Given the description of an element on the screen output the (x, y) to click on. 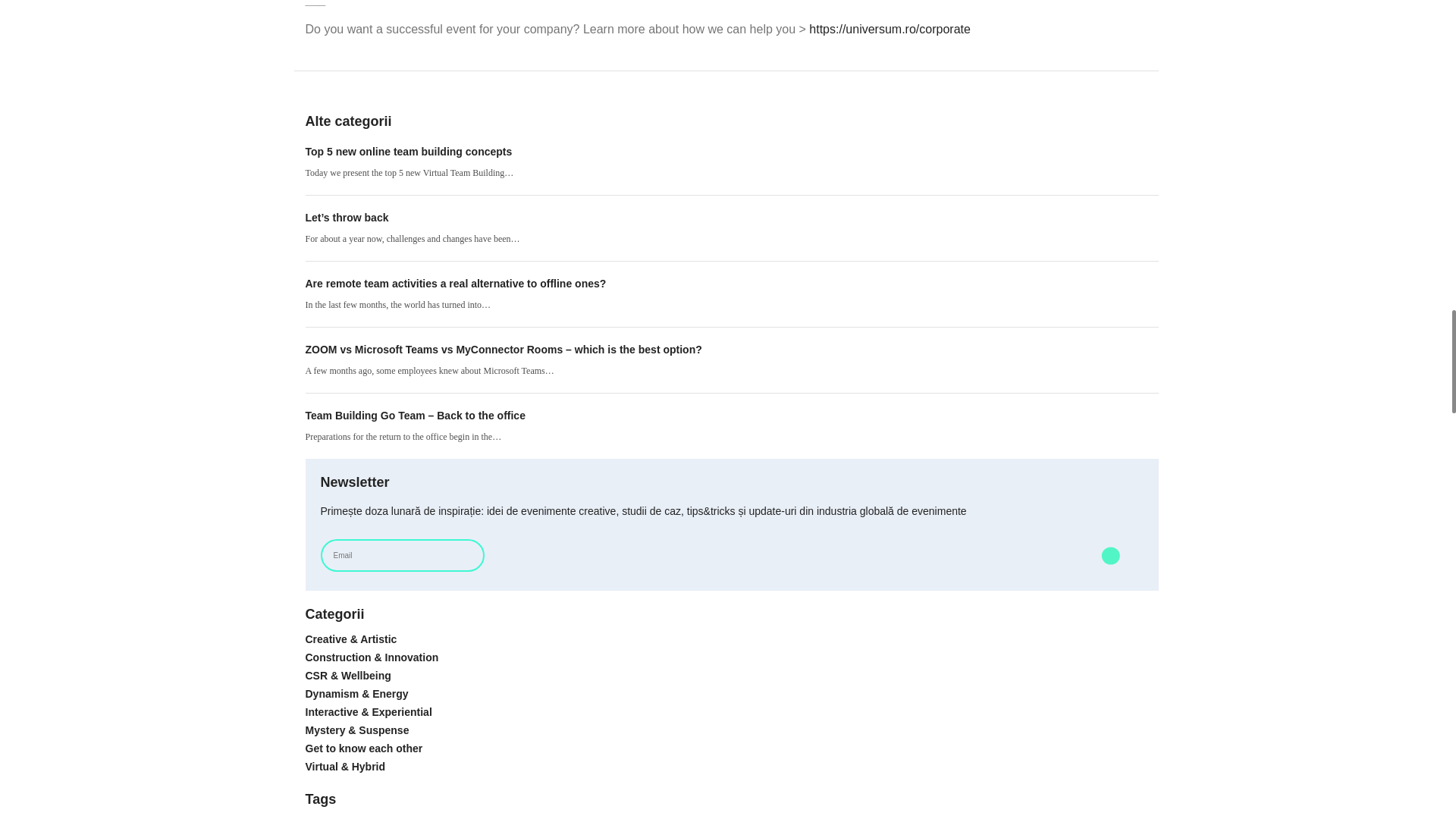
Abonare (1109, 555)
